Given the description of an element on the screen output the (x, y) to click on. 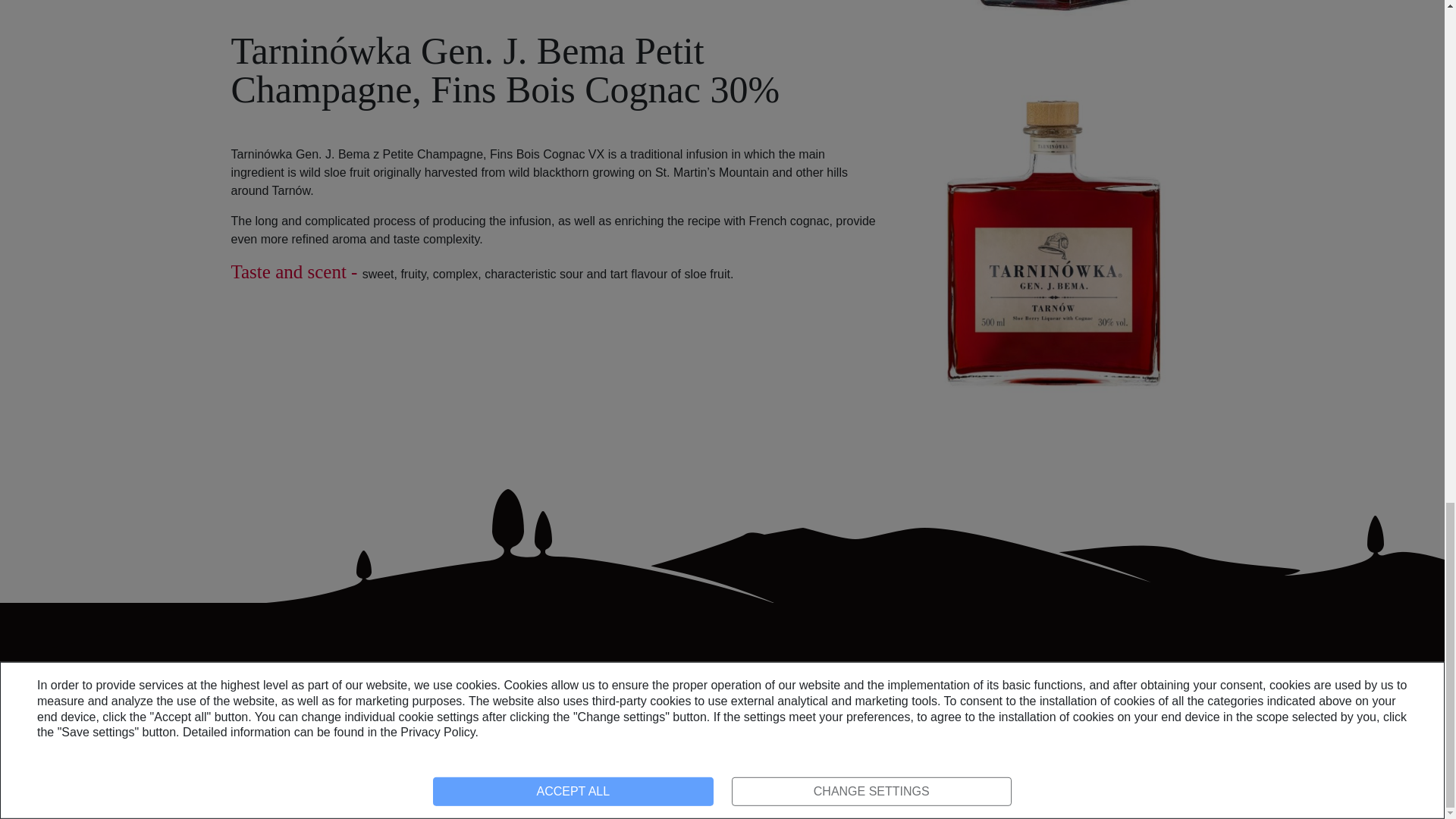
About the company (526, 684)
